Given the description of an element on the screen output the (x, y) to click on. 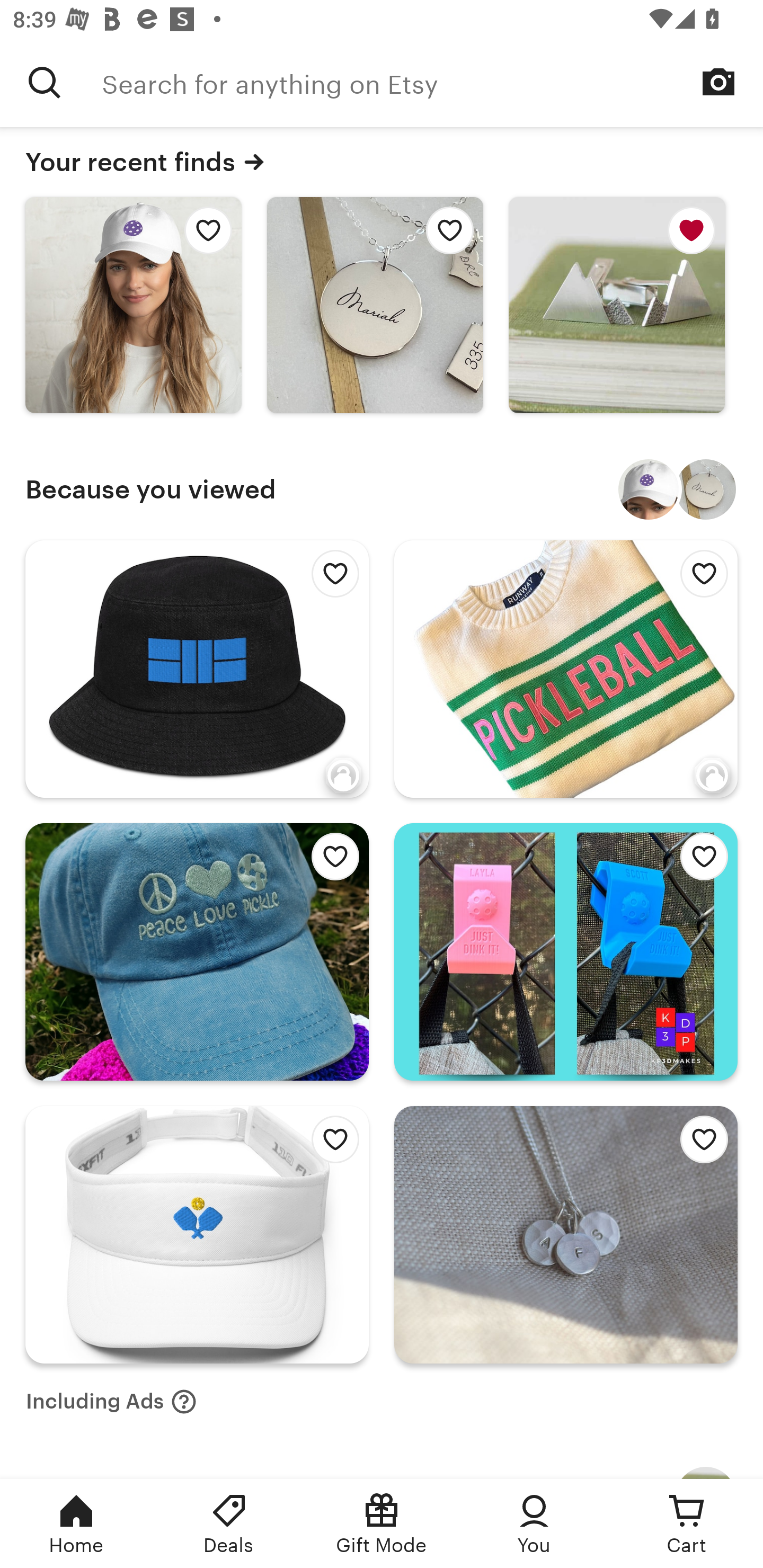
Search for anything on Etsy (44, 82)
Search by image (718, 81)
Search for anything on Etsy (432, 82)
Your recent finds  (381, 162)
Including Ads (111, 1401)
Deals (228, 1523)
Gift Mode (381, 1523)
You (533, 1523)
Cart (686, 1523)
